Given the description of an element on the screen output the (x, y) to click on. 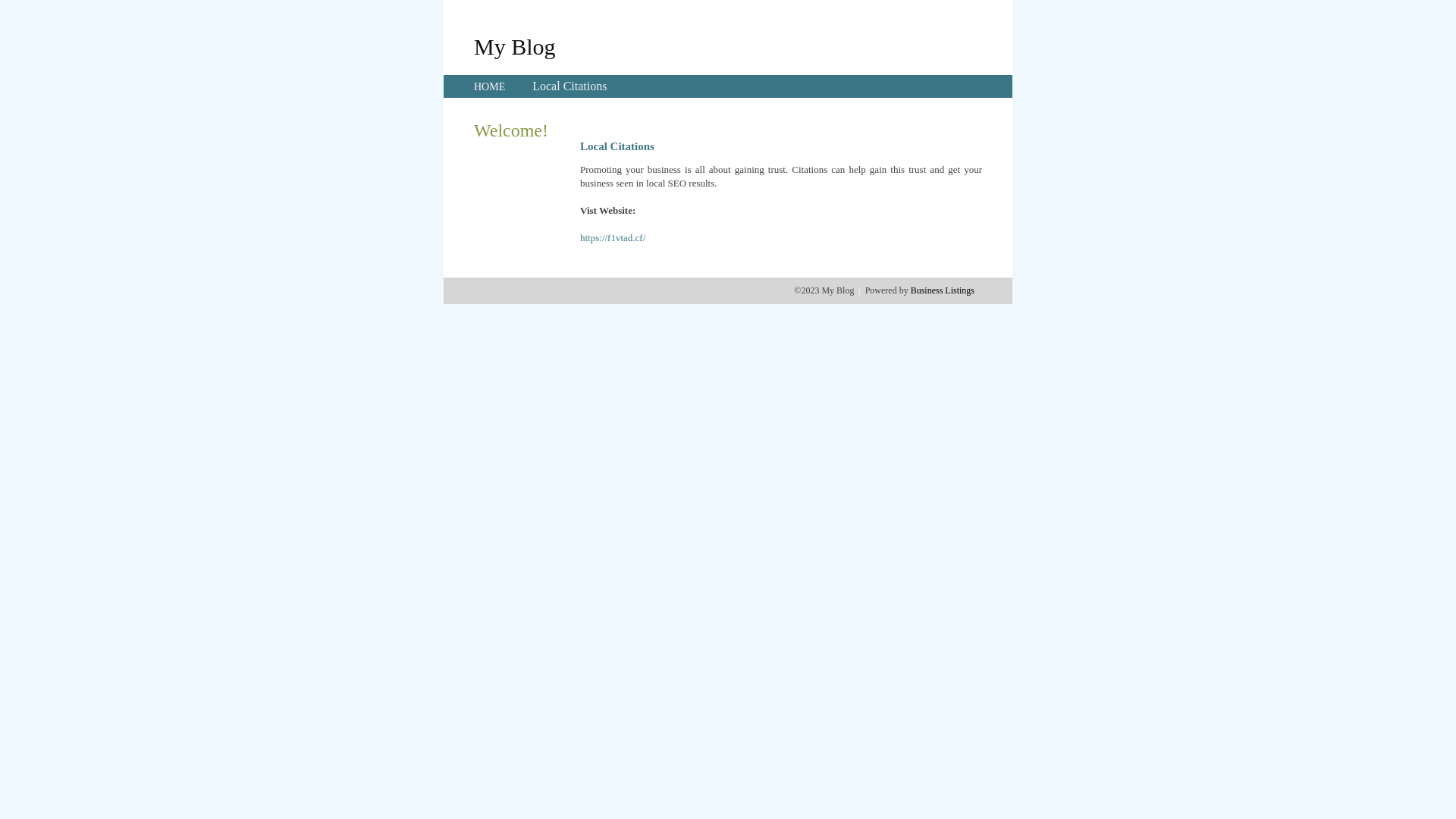
Local Citations Element type: text (569, 85)
HOME Element type: text (489, 86)
My Blog Element type: text (514, 46)
Business Listings Element type: text (942, 290)
https://f1vtad.cf/ Element type: text (612, 237)
